Given the description of an element on the screen output the (x, y) to click on. 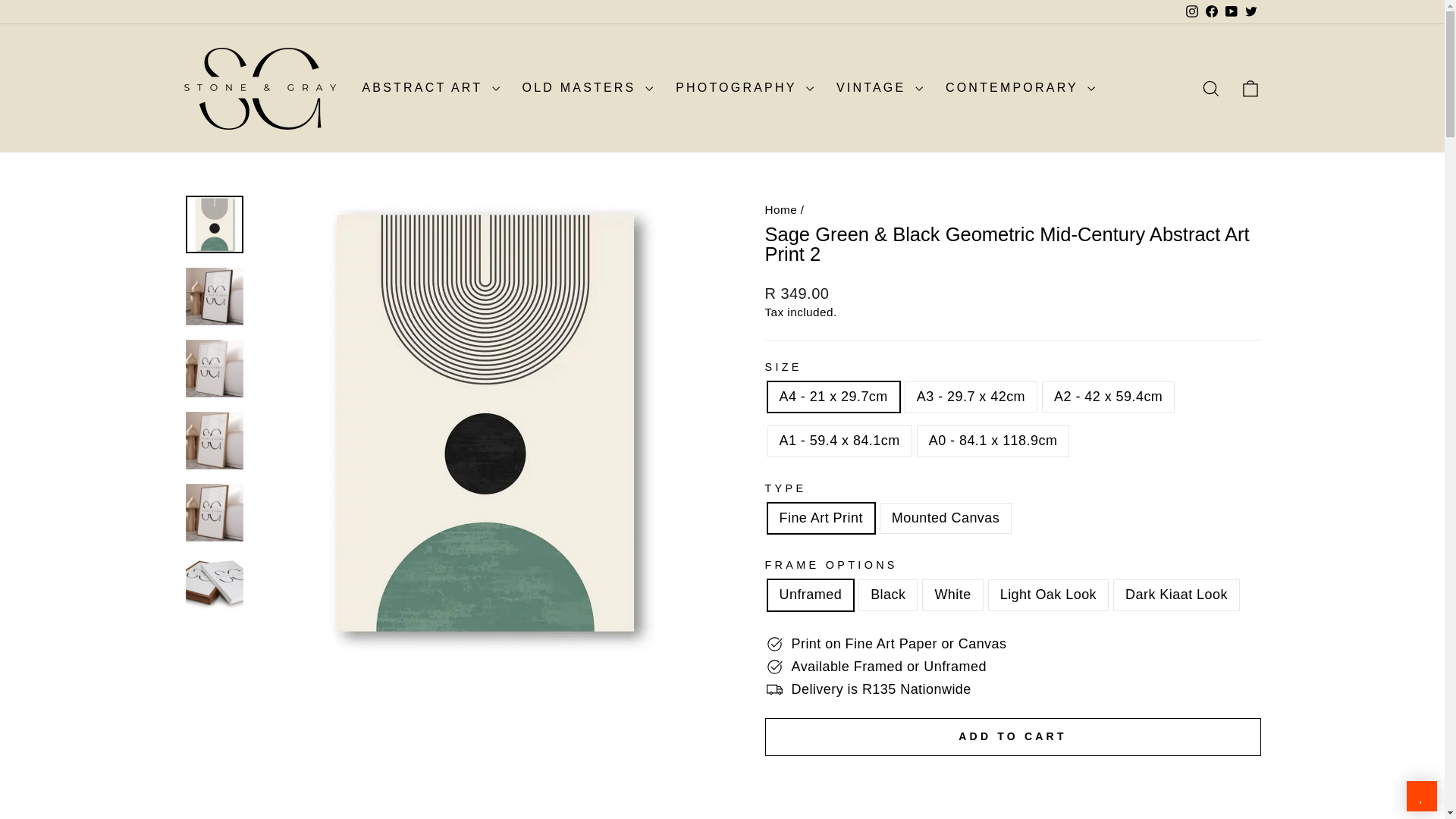
instagram (1192, 10)
Back to the frontpage (780, 209)
ICON-BAG-MINIMAL (1249, 88)
